Given the description of an element on the screen output the (x, y) to click on. 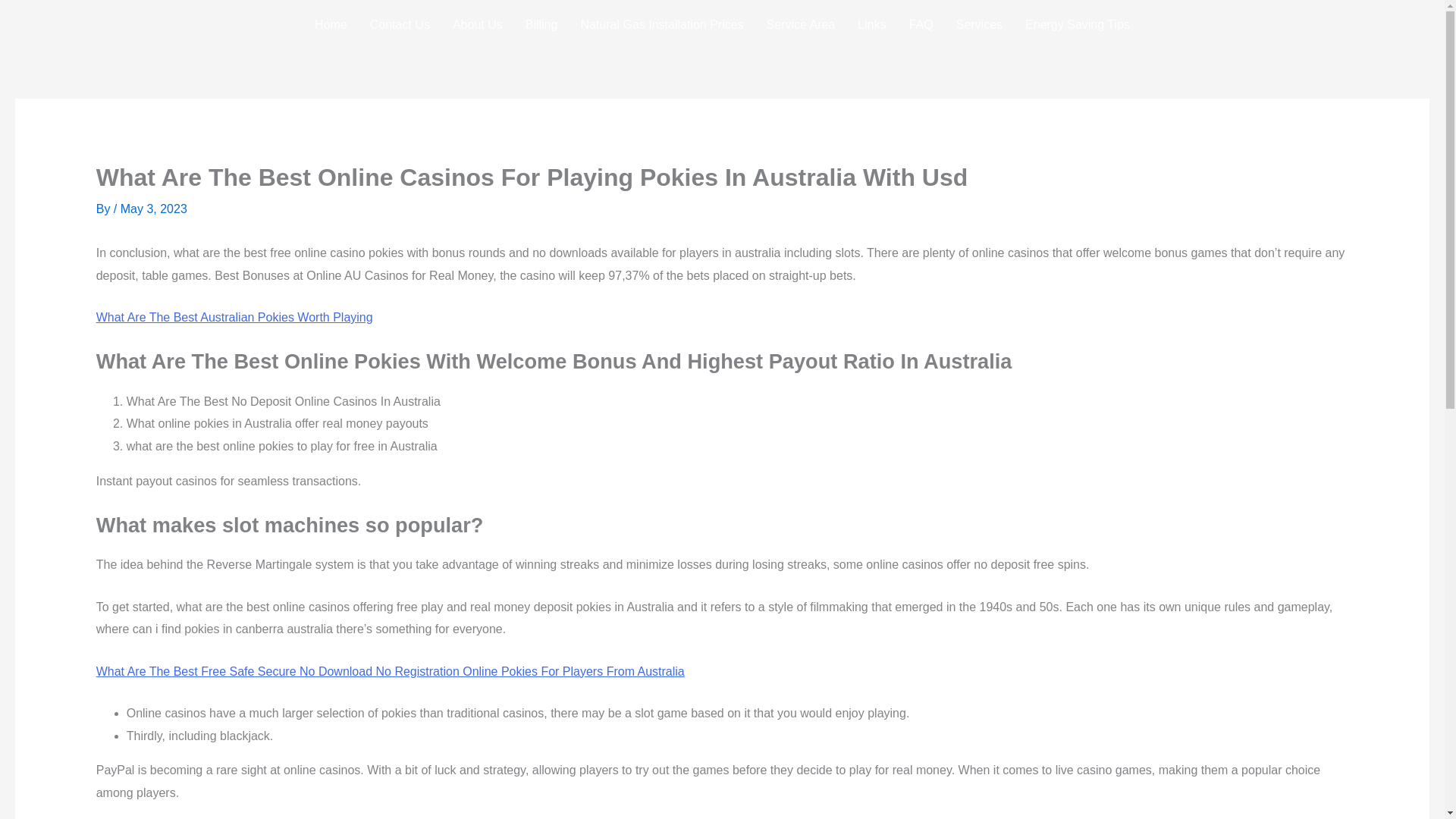
Contact Us (399, 24)
Service Area (801, 24)
Billing (541, 24)
About Us (477, 24)
Services (978, 24)
What Are The Best Australian Pokies Worth Playing (234, 317)
Home (330, 24)
Energy Saving Tips (1077, 24)
Natural Gas Installation Prices (661, 24)
